Given the description of an element on the screen output the (x, y) to click on. 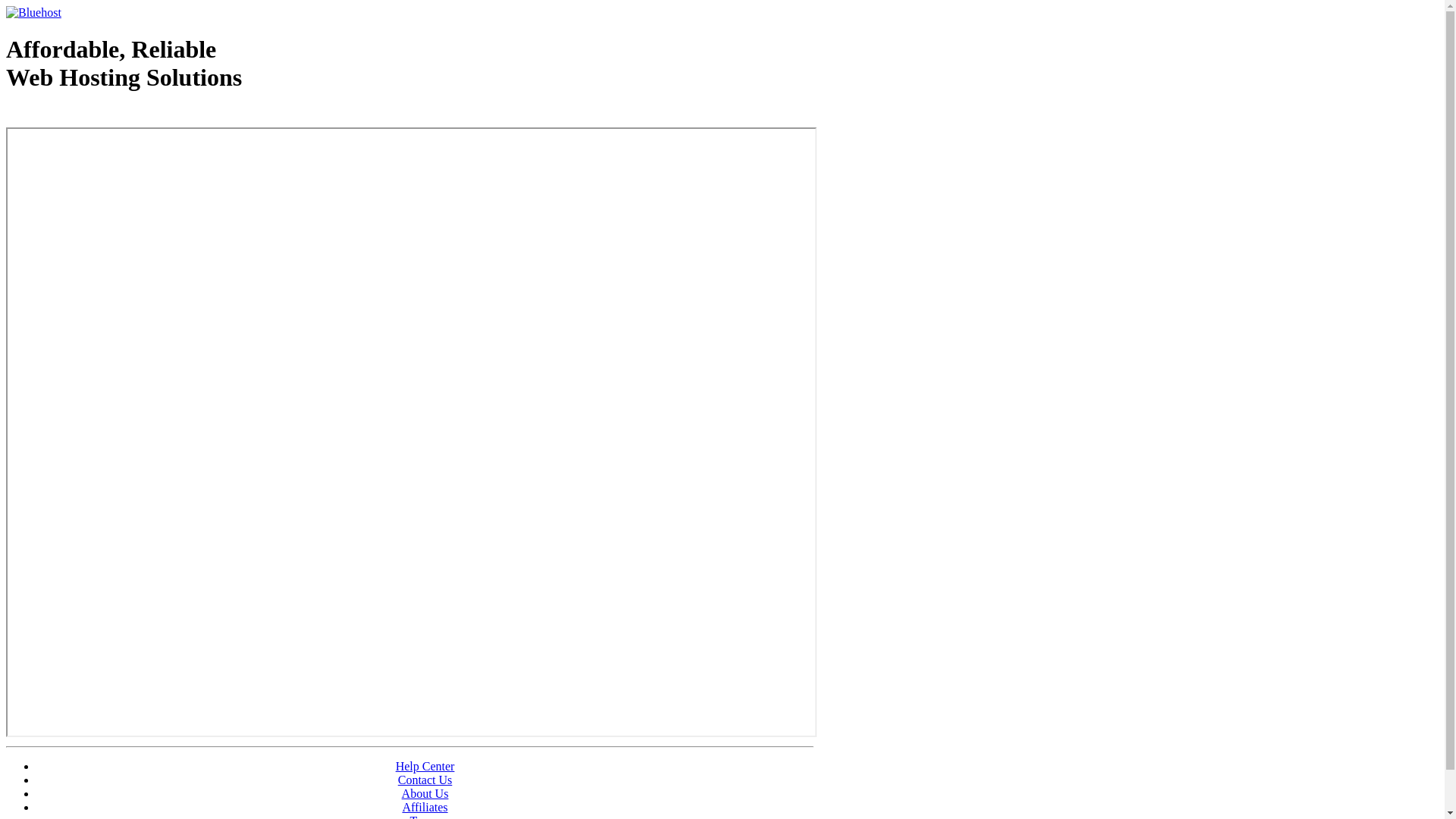
Contact Us Element type: text (425, 779)
Help Center Element type: text (425, 765)
Affiliates Element type: text (424, 806)
About Us Element type: text (424, 793)
Web Hosting - courtesy of www.bluehost.com Element type: text (94, 115)
